Given the description of an element on the screen output the (x, y) to click on. 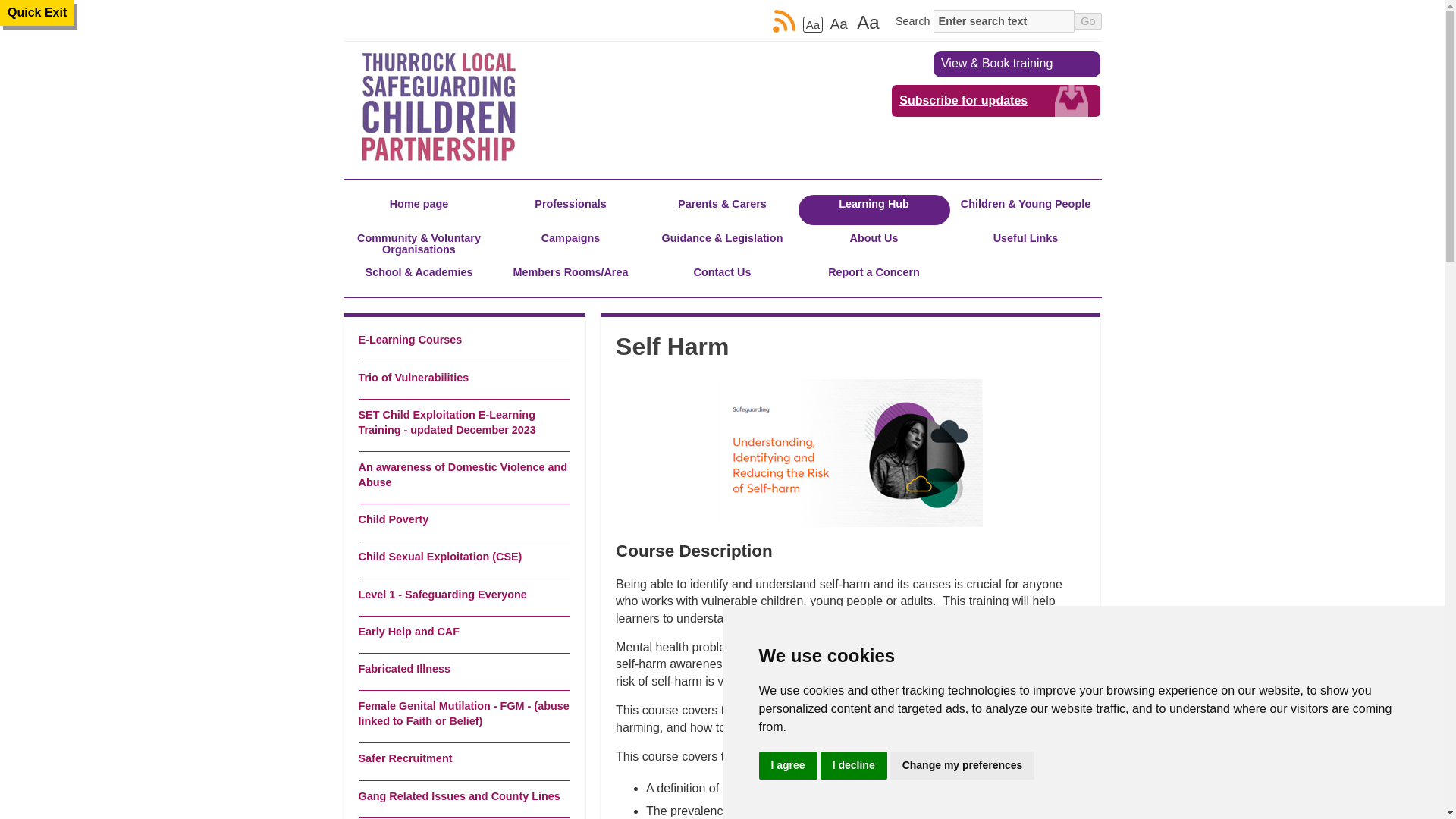
Trio of Vulnerabilities (463, 377)
Fabricated Illness (463, 668)
Quick Exit (37, 12)
Make the text size large (867, 22)
Aa (812, 24)
Contact Us (721, 277)
I agree (787, 765)
Professionals (570, 209)
Home page (418, 209)
E-Learning Courses (463, 339)
About Us (873, 244)
Aa (839, 23)
Aa (867, 22)
Child Poverty (463, 519)
